Given the description of an element on the screen output the (x, y) to click on. 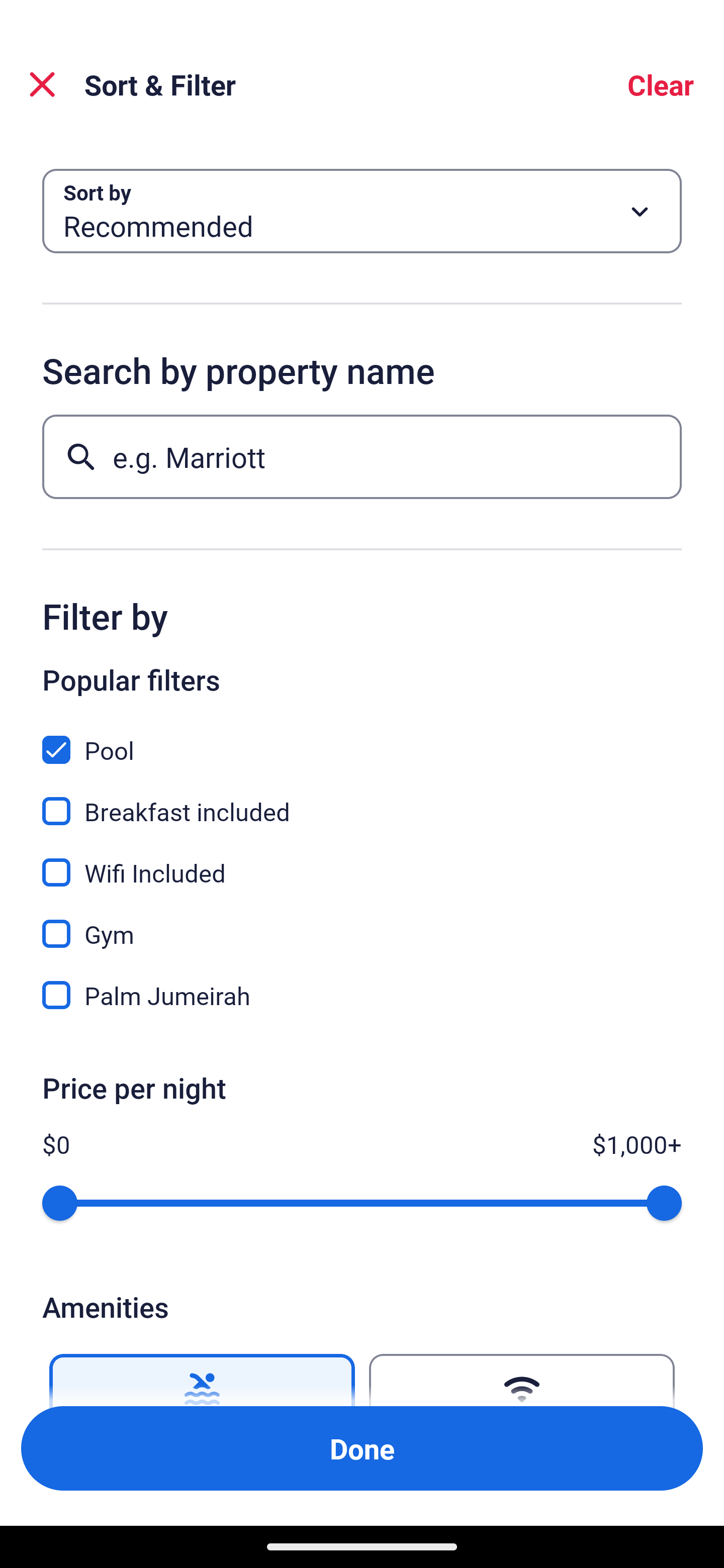
Close Sort and Filter (42, 84)
Clear (660, 84)
Sort by Button Recommended (361, 211)
e.g. Marriott Button (361, 455)
Pool, Pool (361, 738)
Breakfast included, Breakfast included (361, 800)
Wifi Included, Wifi Included (361, 861)
Gym, Gym (361, 922)
Palm Jumeirah, Palm Jumeirah (361, 995)
Apply and close Sort and Filter Done (361, 1448)
